Given the description of an element on the screen output the (x, y) to click on. 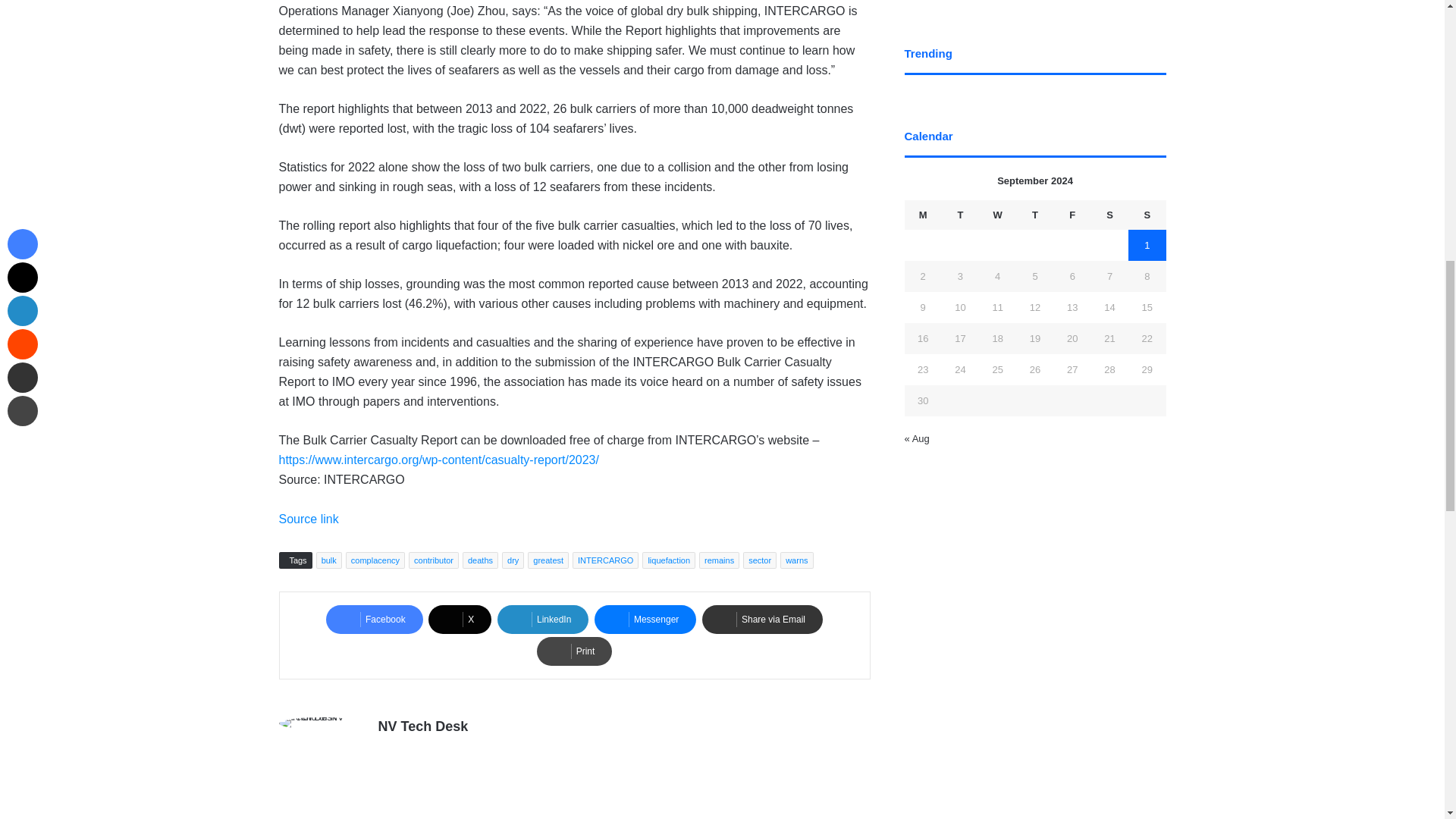
Messenger (644, 619)
Facebook (374, 619)
Source link (309, 518)
X (460, 619)
LinkedIn (542, 619)
